Given the description of an element on the screen output the (x, y) to click on. 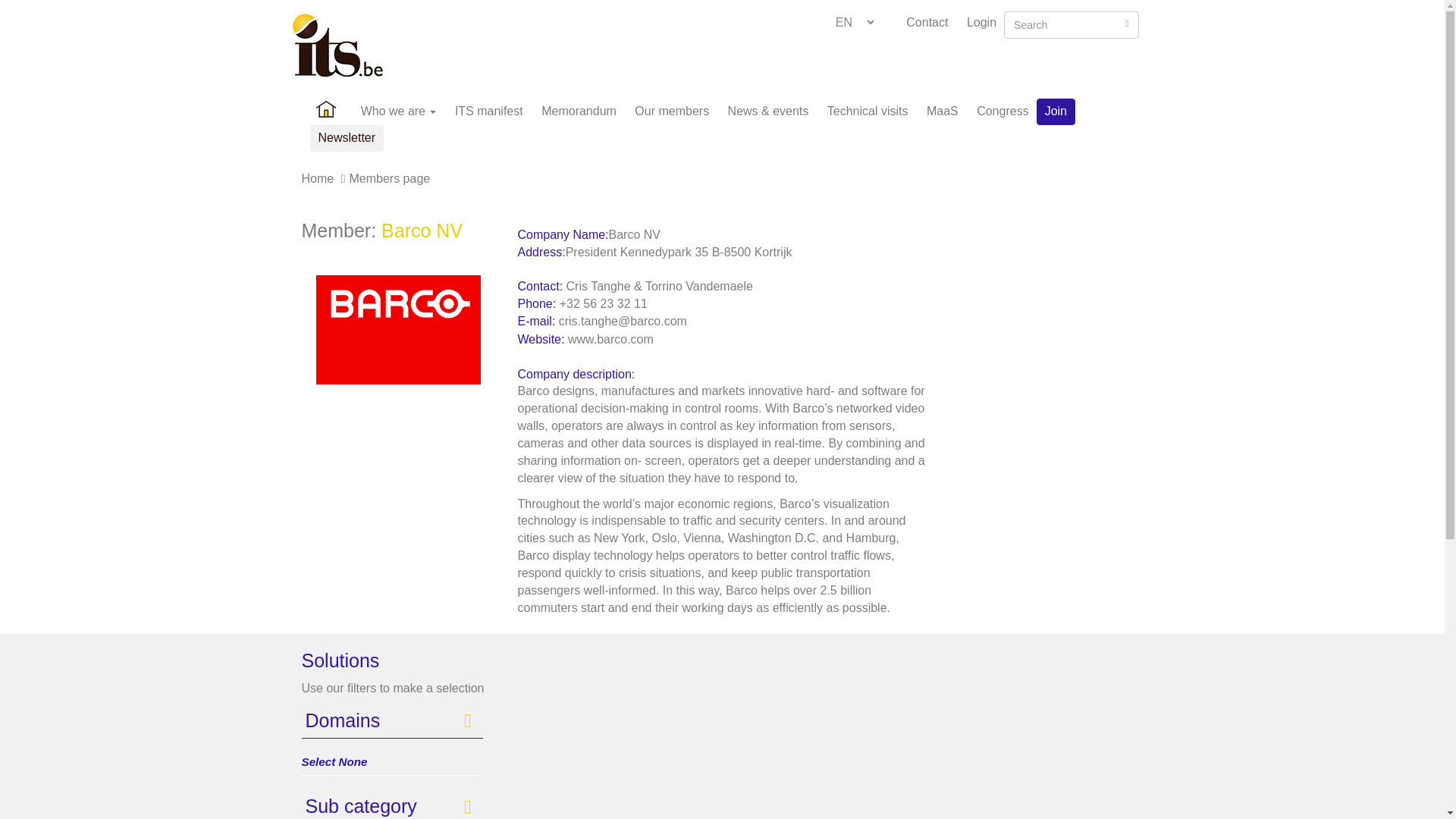
Login (981, 22)
Apply (21, 12)
Home (342, 45)
Enter the terms you wish to search for. (1071, 24)
Search (1126, 23)
www.barco.com (610, 338)
Home (325, 108)
Technical visits (867, 107)
Contact (926, 22)
Our members (671, 107)
Memorandum (579, 107)
Congress (1002, 107)
Who we are (398, 107)
Join (1055, 111)
